Given the description of an element on the screen output the (x, y) to click on. 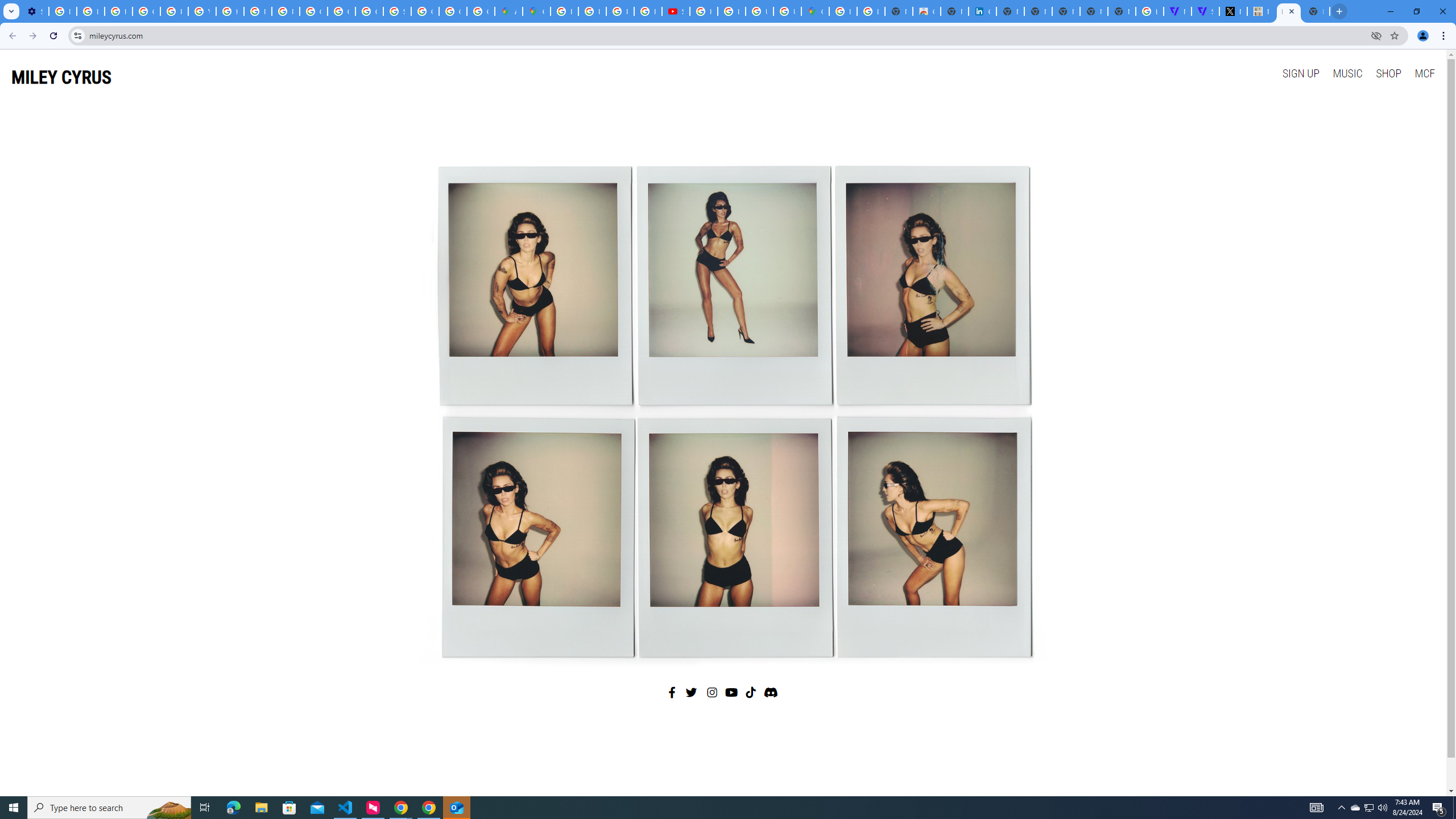
Streaming - The Verge (1205, 11)
Privacy Help Center - Policies Help (620, 11)
Google Maps (815, 11)
New Tab (1316, 11)
Privacy Help Center - Policies Help (592, 11)
Chrome Web Store (926, 11)
